Given the description of an element on the screen output the (x, y) to click on. 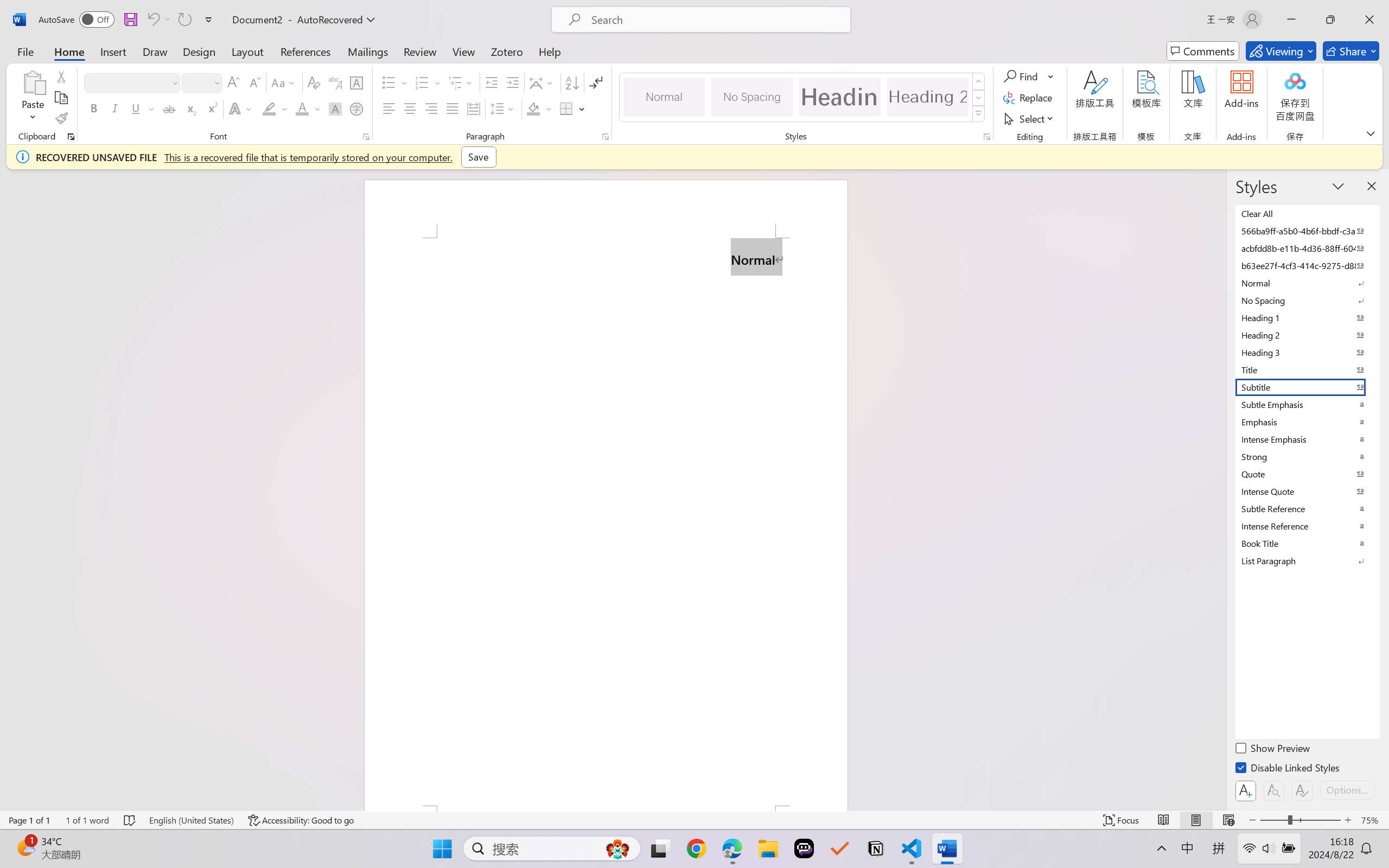
Book Title (1306, 543)
Page Number Page 1 of 1 (29, 819)
Italic (115, 108)
Font... (365, 136)
Subtitle (1306, 386)
Justify (452, 108)
Subtle Emphasis (1306, 404)
Intense Quote (1306, 490)
